Given the description of an element on the screen output the (x, y) to click on. 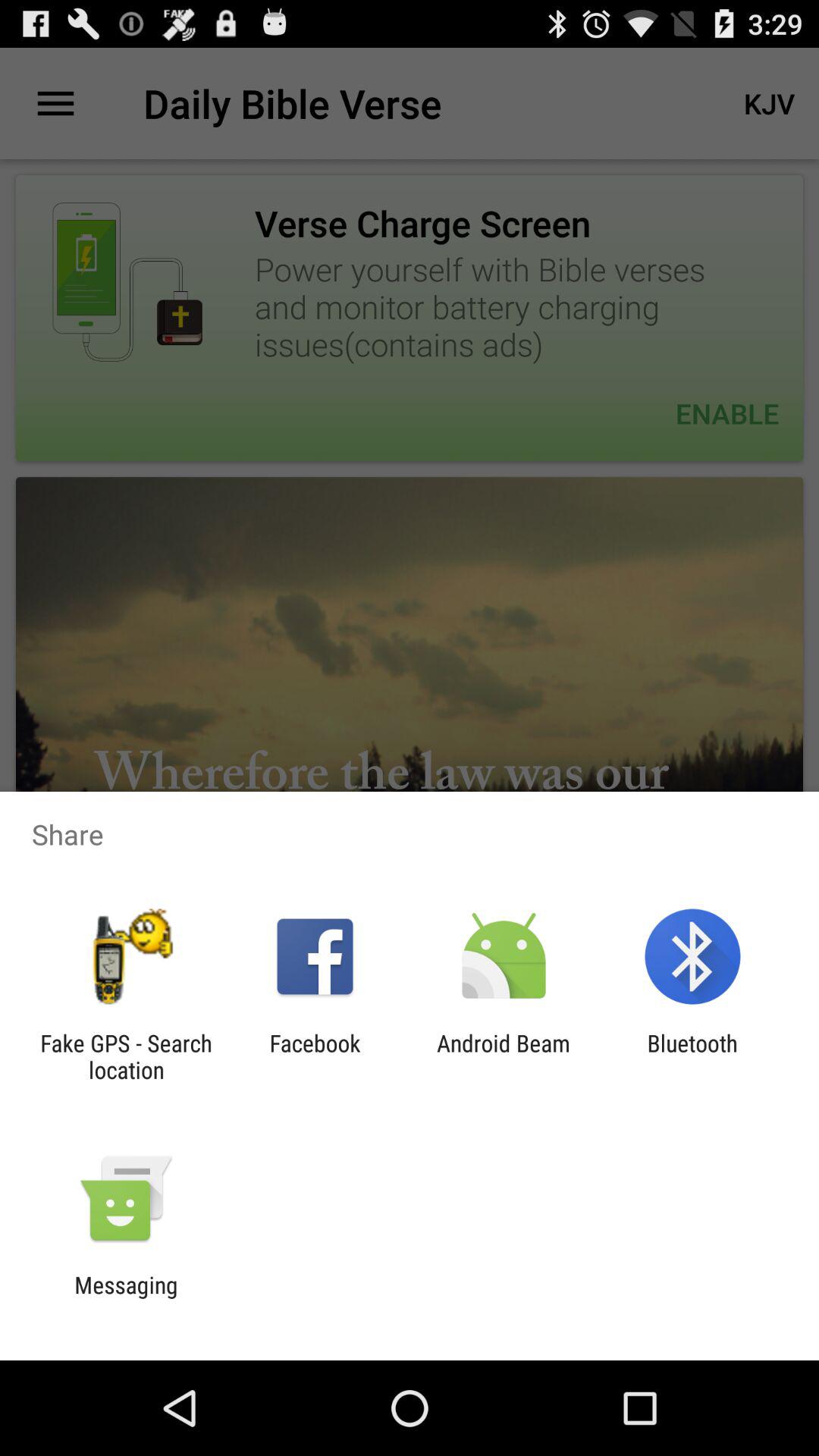
flip until the fake gps search icon (125, 1056)
